Given the description of an element on the screen output the (x, y) to click on. 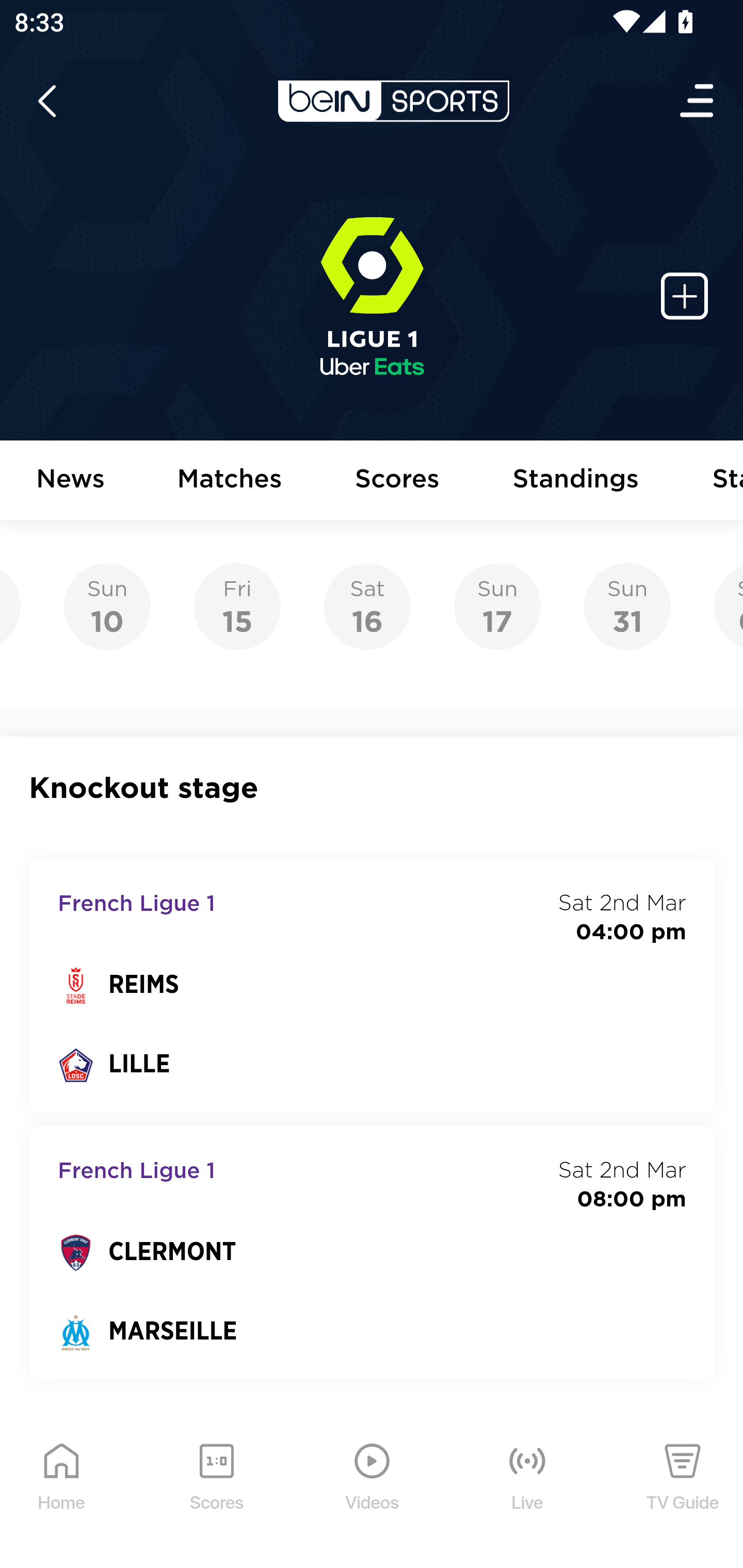
en-us?platform=mobile_android bein logo white (392, 101)
icon back (46, 101)
Open Menu Icon (697, 101)
News (70, 480)
Matches (229, 480)
Scores (397, 480)
Standings (575, 480)
Sun10 (107, 606)
Fri15 (237, 606)
Sat16 (367, 606)
Sun17 (497, 606)
Sun31 (627, 606)
Knockout stage (372, 787)
Home Home Icon Home (61, 1491)
Scores Scores Icon Scores (216, 1491)
Videos Videos Icon Videos (372, 1491)
TV Guide TV Guide Icon TV Guide (682, 1491)
